Given the description of an element on the screen output the (x, y) to click on. 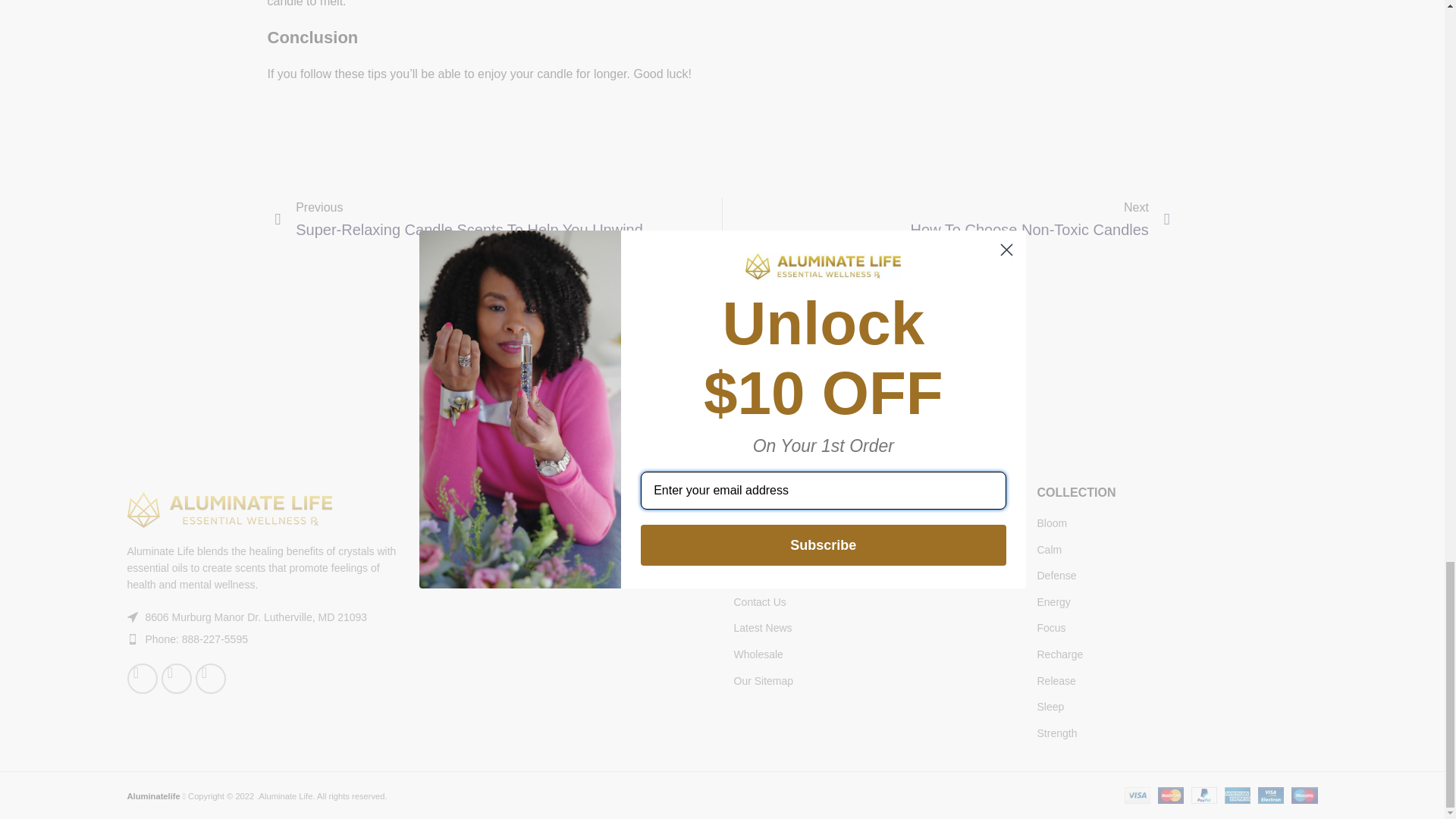
phone-icon (133, 638)
wd-cursor-dark (133, 616)
